Given the description of an element on the screen output the (x, y) to click on. 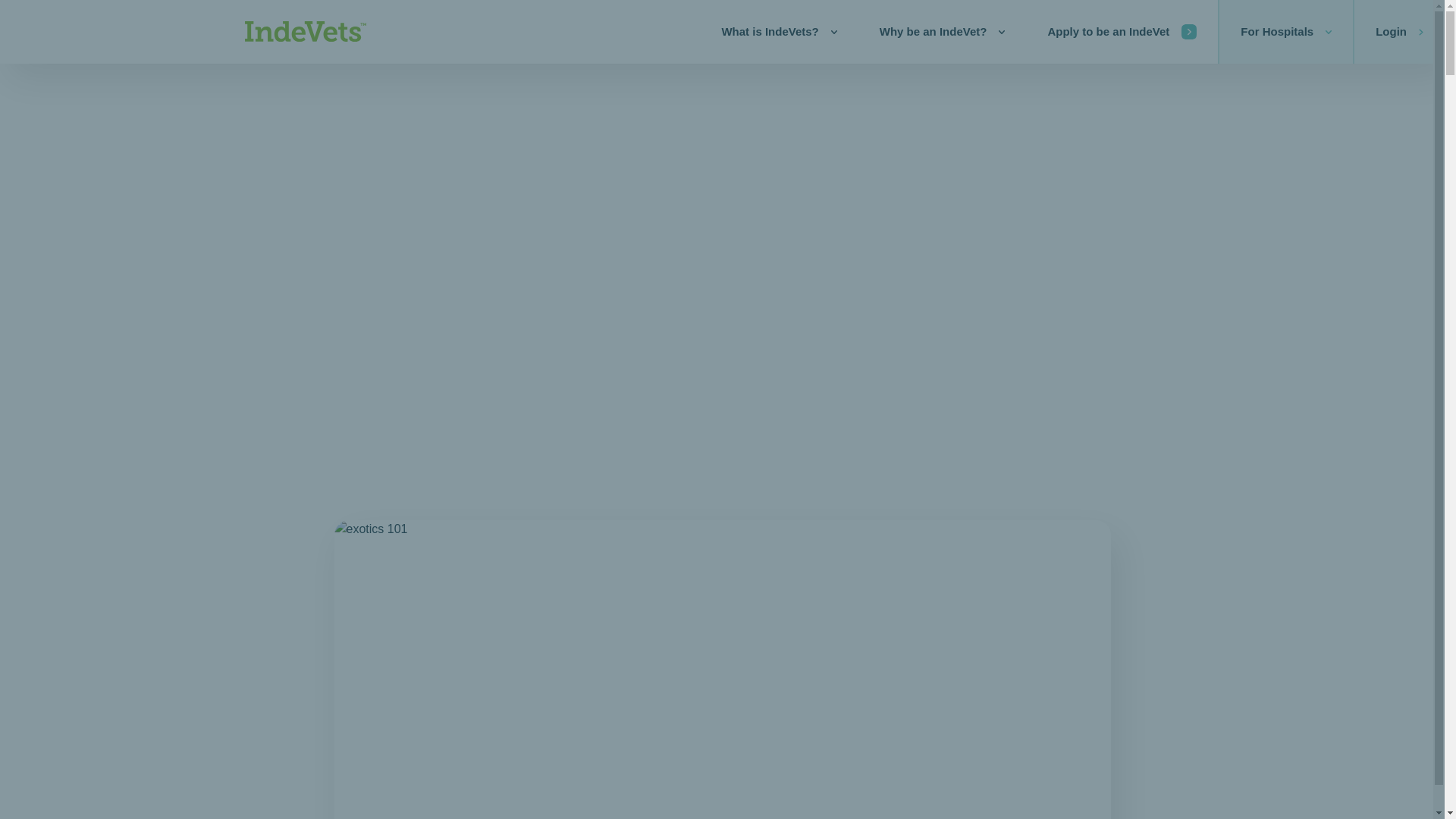
Why be an IndeVet? (942, 31)
For Hospitals (1284, 31)
Apply to be an IndeVet (1121, 31)
What is IndeVets? (778, 31)
